Given the description of an element on the screen output the (x, y) to click on. 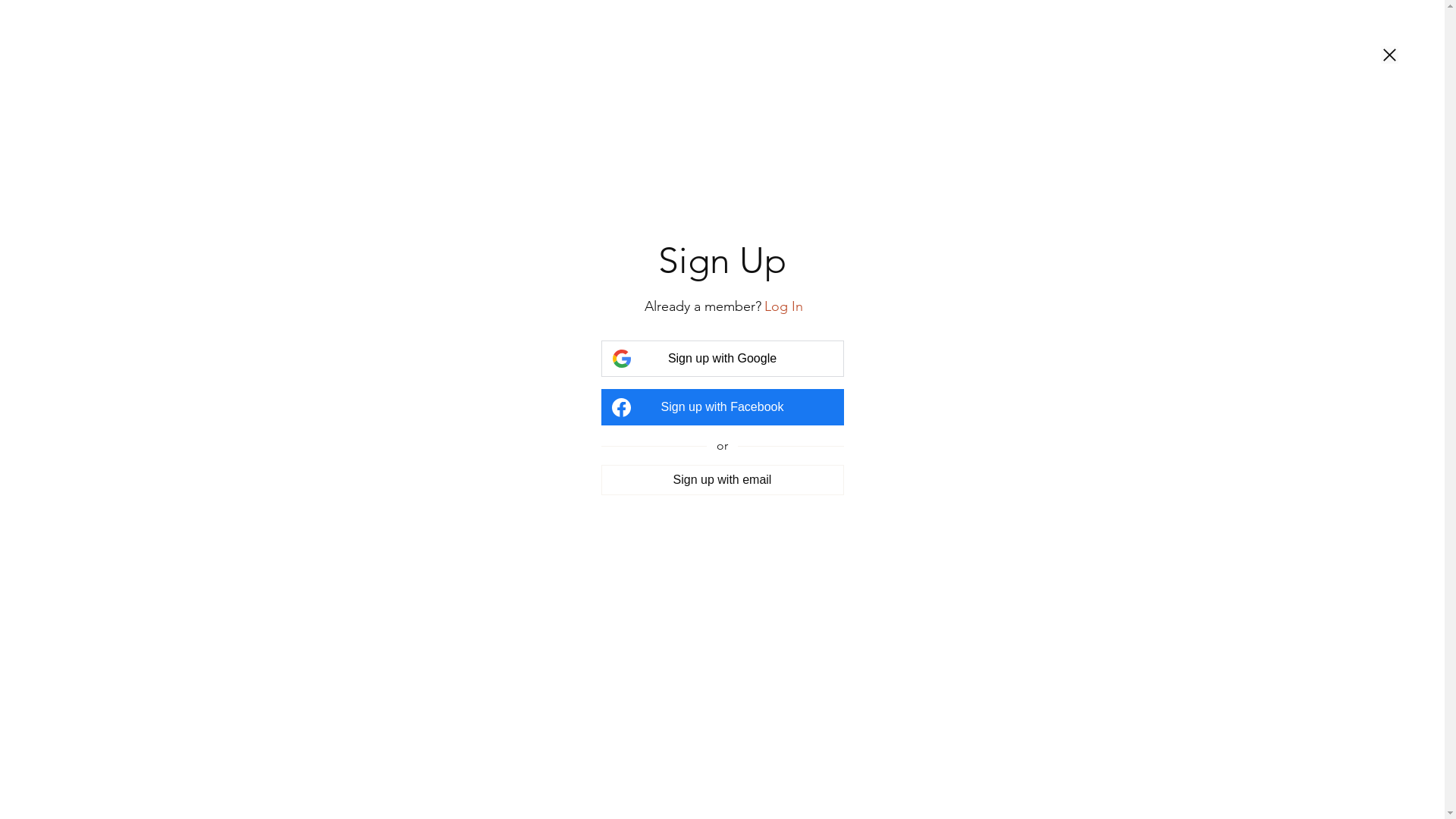
Log In Element type: text (783, 306)
Sign up with Google Element type: text (721, 358)
Sign up with email Element type: text (721, 479)
Sign up with Facebook Element type: text (721, 407)
